Given the description of an element on the screen output the (x, y) to click on. 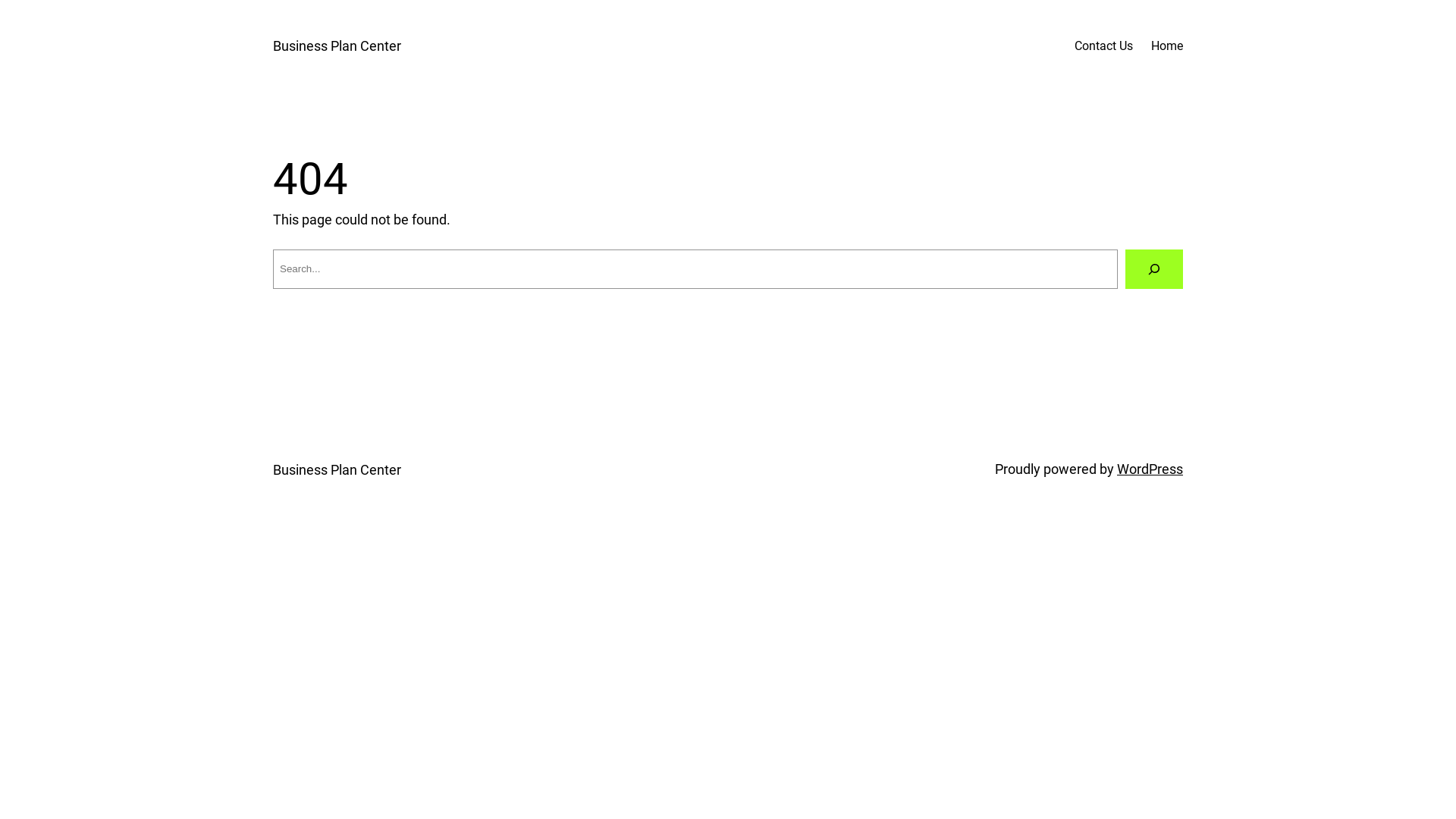
Contact Us Element type: text (1103, 46)
Home Element type: text (1167, 46)
Business Plan Center Element type: text (337, 469)
WordPress Element type: text (1150, 468)
Business Plan Center Element type: text (337, 45)
